Given the description of an element on the screen output the (x, y) to click on. 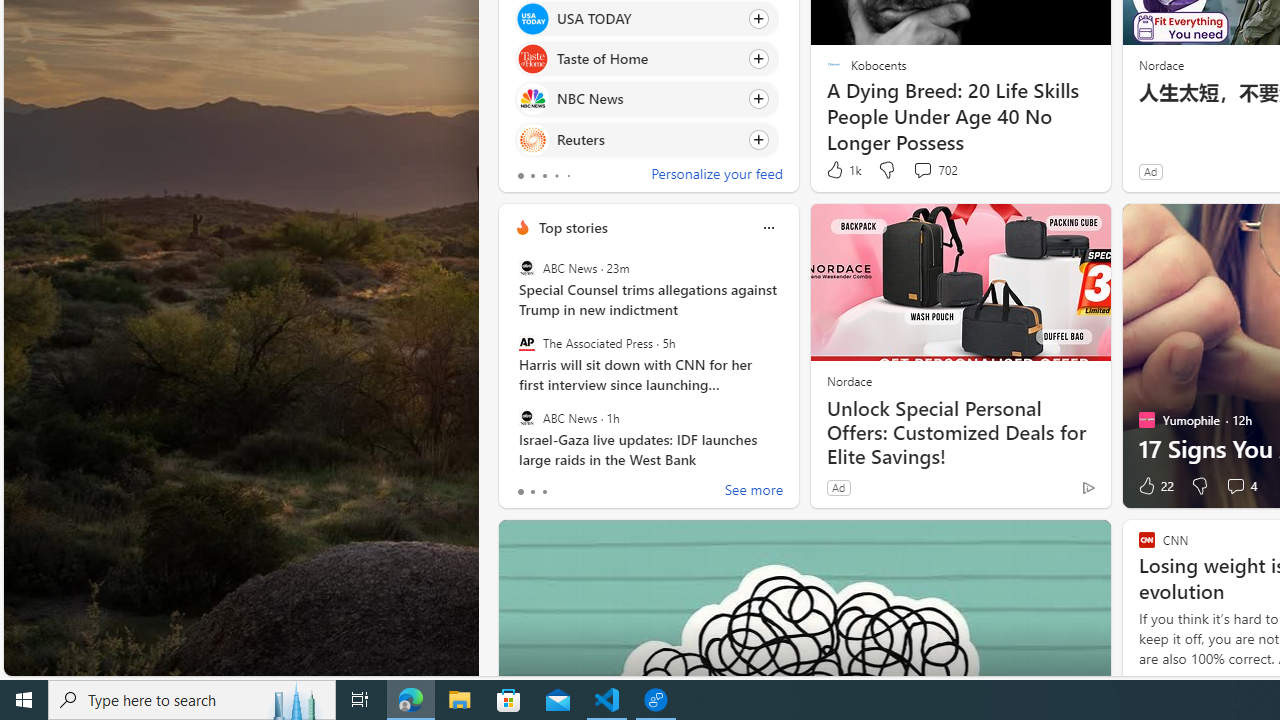
Dislike (1199, 485)
22 Like (1154, 485)
Taste of Home (532, 59)
